Given the description of an element on the screen output the (x, y) to click on. 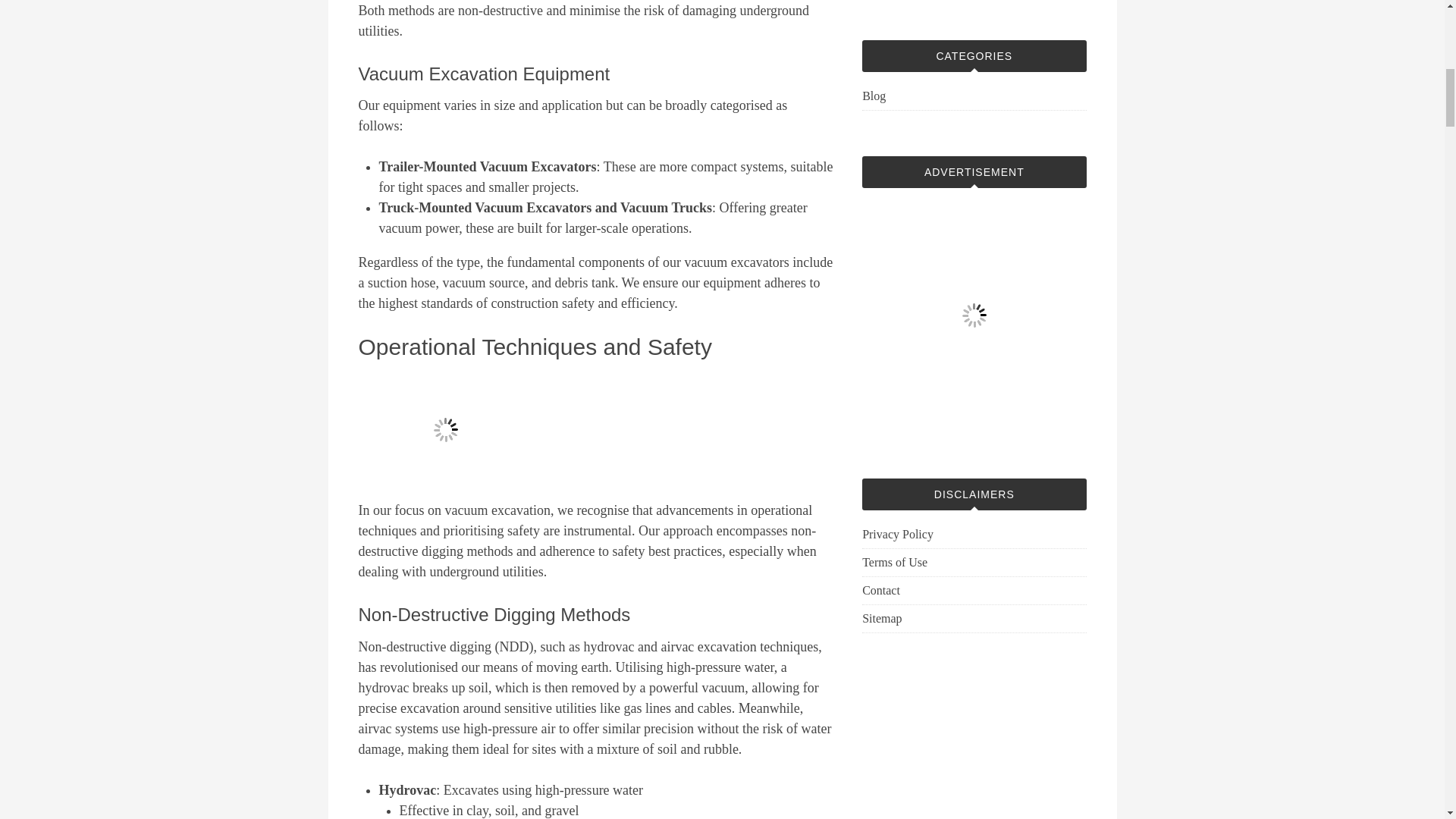
Privacy Policy (897, 533)
Blog (873, 95)
Sitemap (881, 617)
Contact (880, 590)
Terms of Use (894, 562)
